Given the description of an element on the screen output the (x, y) to click on. 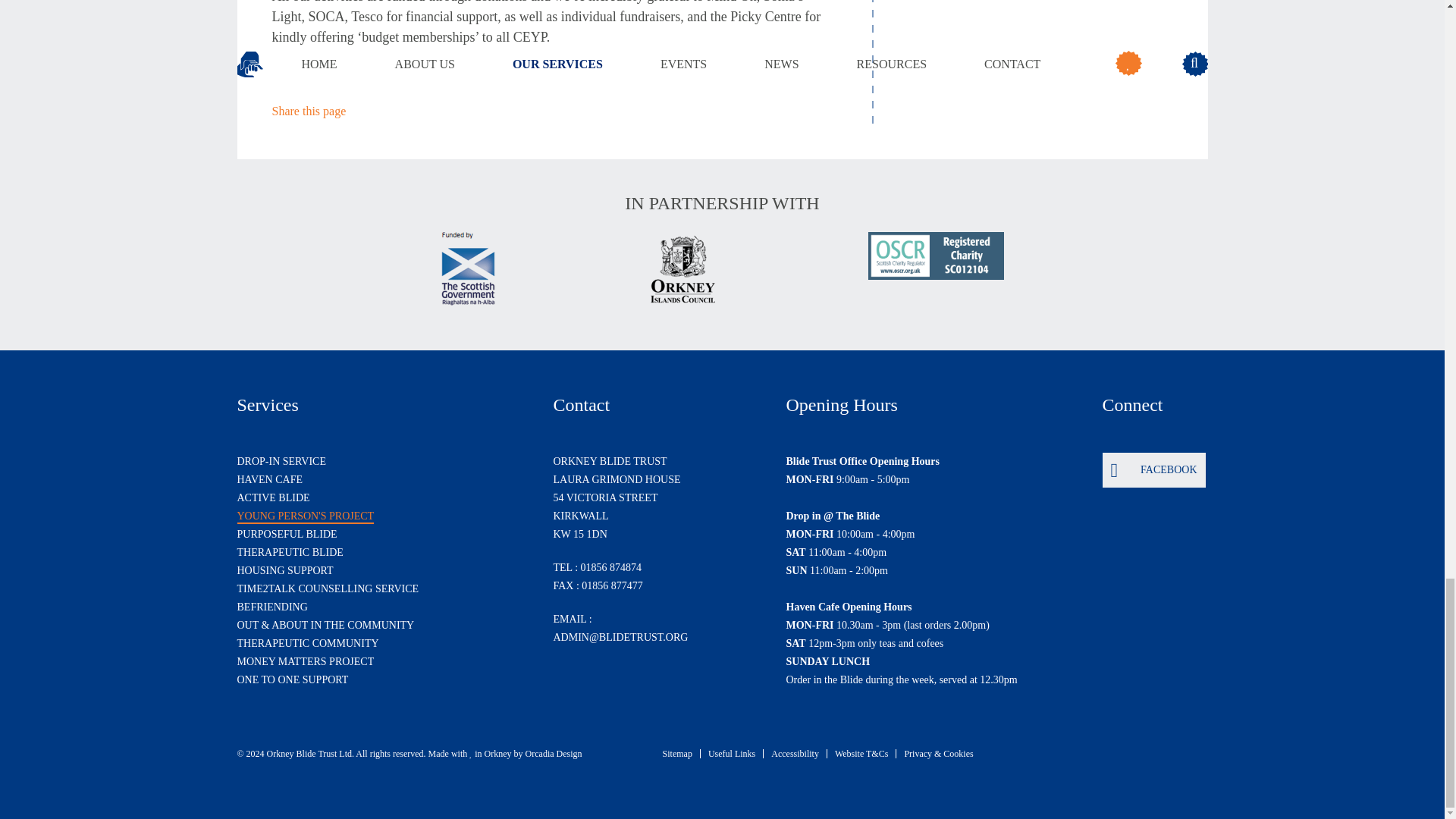
ACTIVE BLIDE (271, 497)
PURPOSEFUL BLIDE (285, 534)
YOUNG PERSON'S PROJECT (304, 515)
HAVEN CAFE (268, 479)
Like us on facebook (1153, 469)
DROP-IN SERVICE (280, 461)
